Given the description of an element on the screen output the (x, y) to click on. 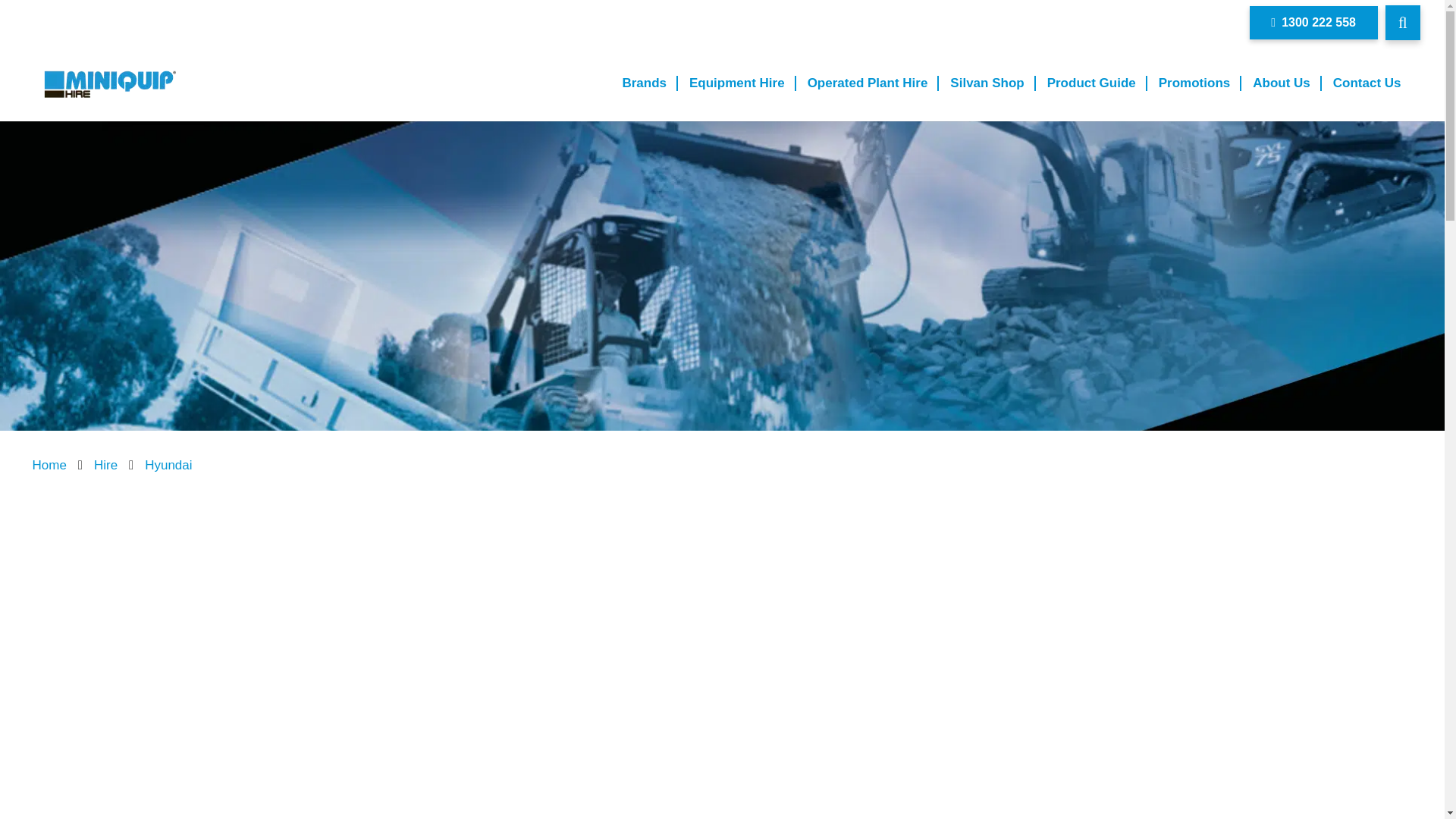
Hyundai (168, 464)
Contact Us (1367, 83)
Silvan Shop (987, 83)
Equipment Hire (737, 83)
Operated Plant Hire (867, 83)
Product Guide (1091, 83)
About Us (1281, 83)
1300 222 558 (1313, 22)
Promotions (1194, 83)
Brands (644, 83)
